Given the description of an element on the screen output the (x, y) to click on. 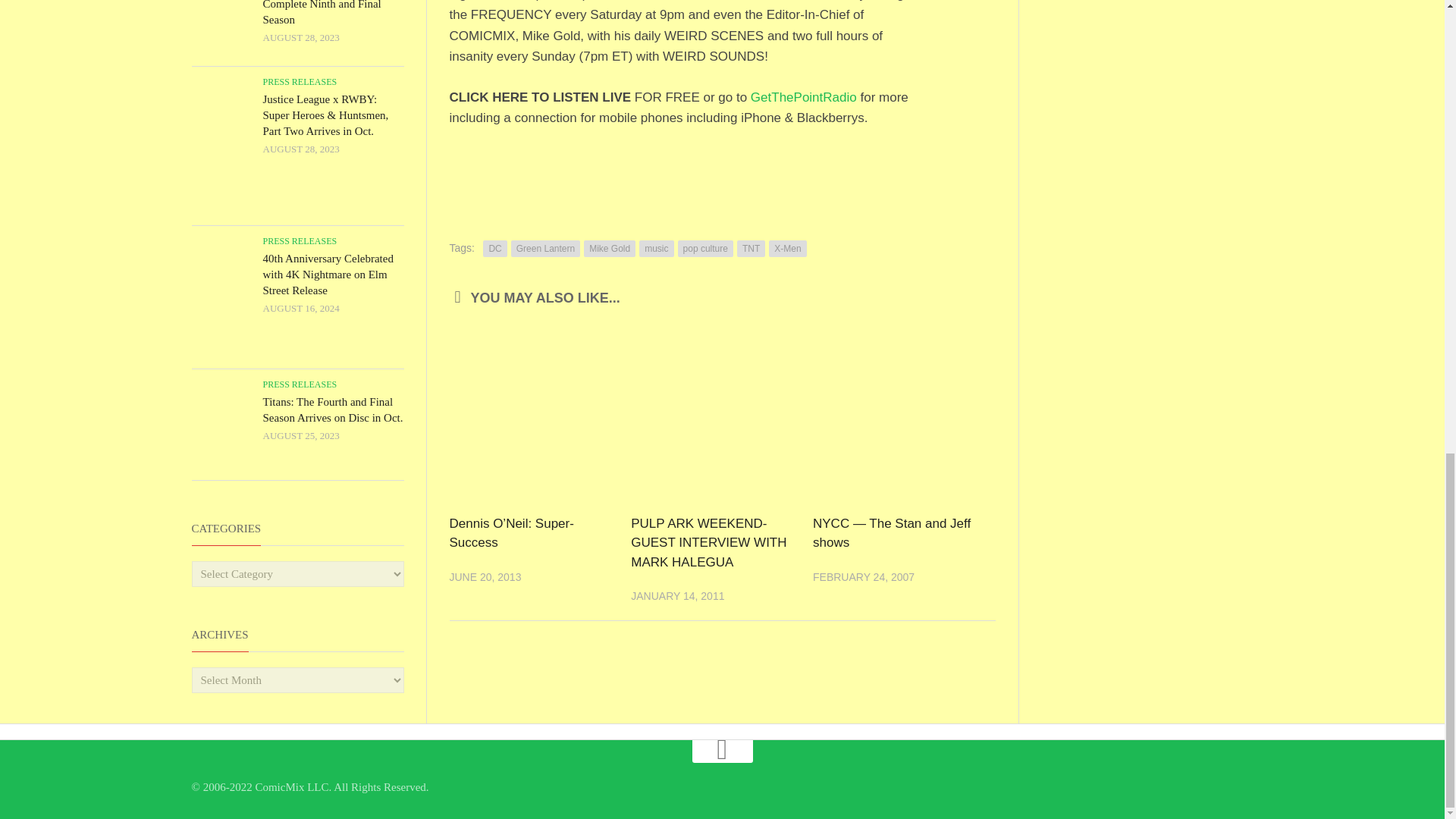
GetThePointRadio (804, 97)
Mike Gold (608, 248)
music (655, 248)
DC (494, 248)
Green Lantern (545, 248)
